Given the description of an element on the screen output the (x, y) to click on. 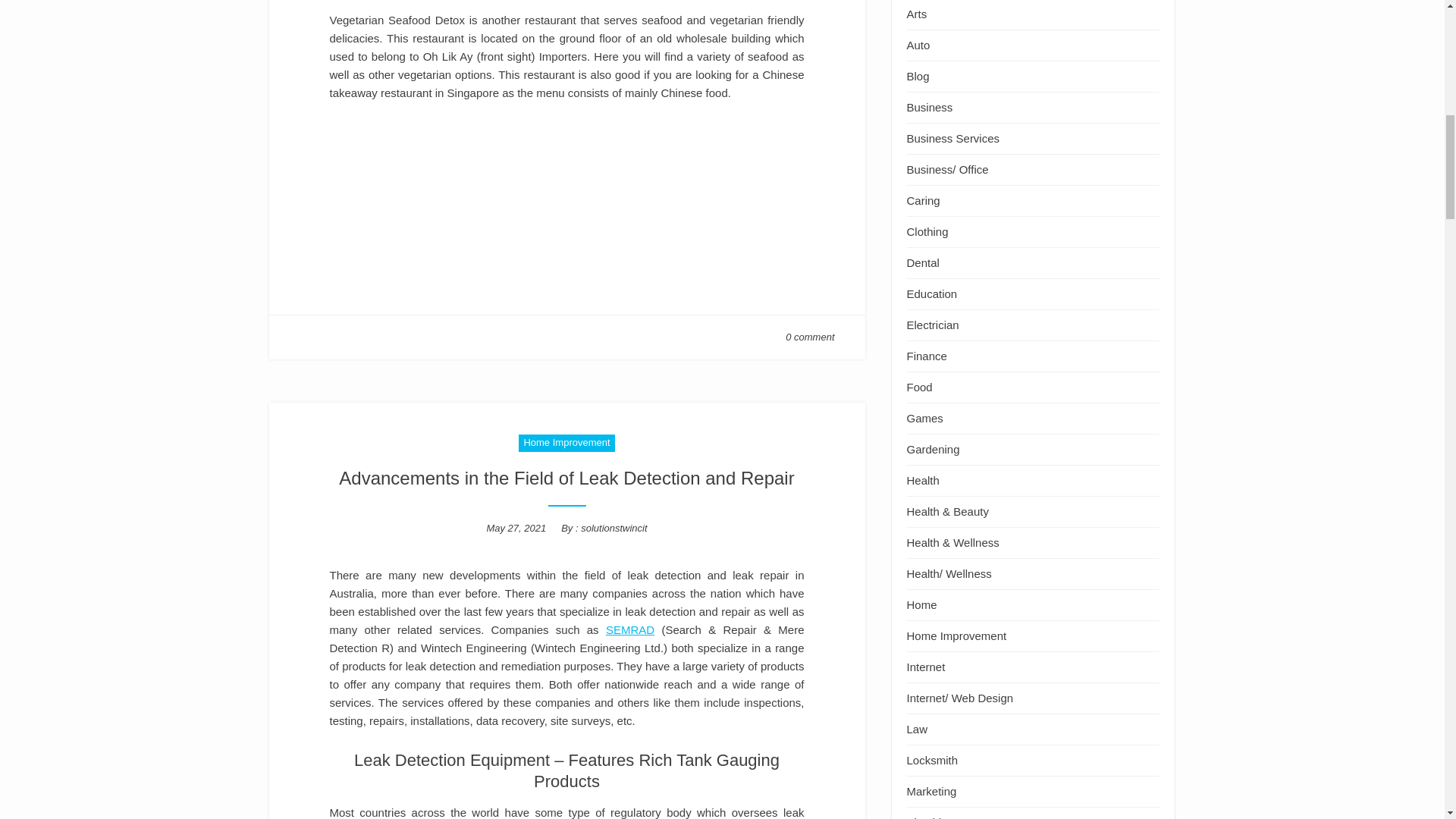
Home Improvement (566, 443)
0 comment (810, 337)
SEMRAD (629, 629)
May 27, 2021 (516, 527)
Advancements in the Field of Leak Detection and Repair (566, 477)
solutionstwincit (613, 527)
